Given the description of an element on the screen output the (x, y) to click on. 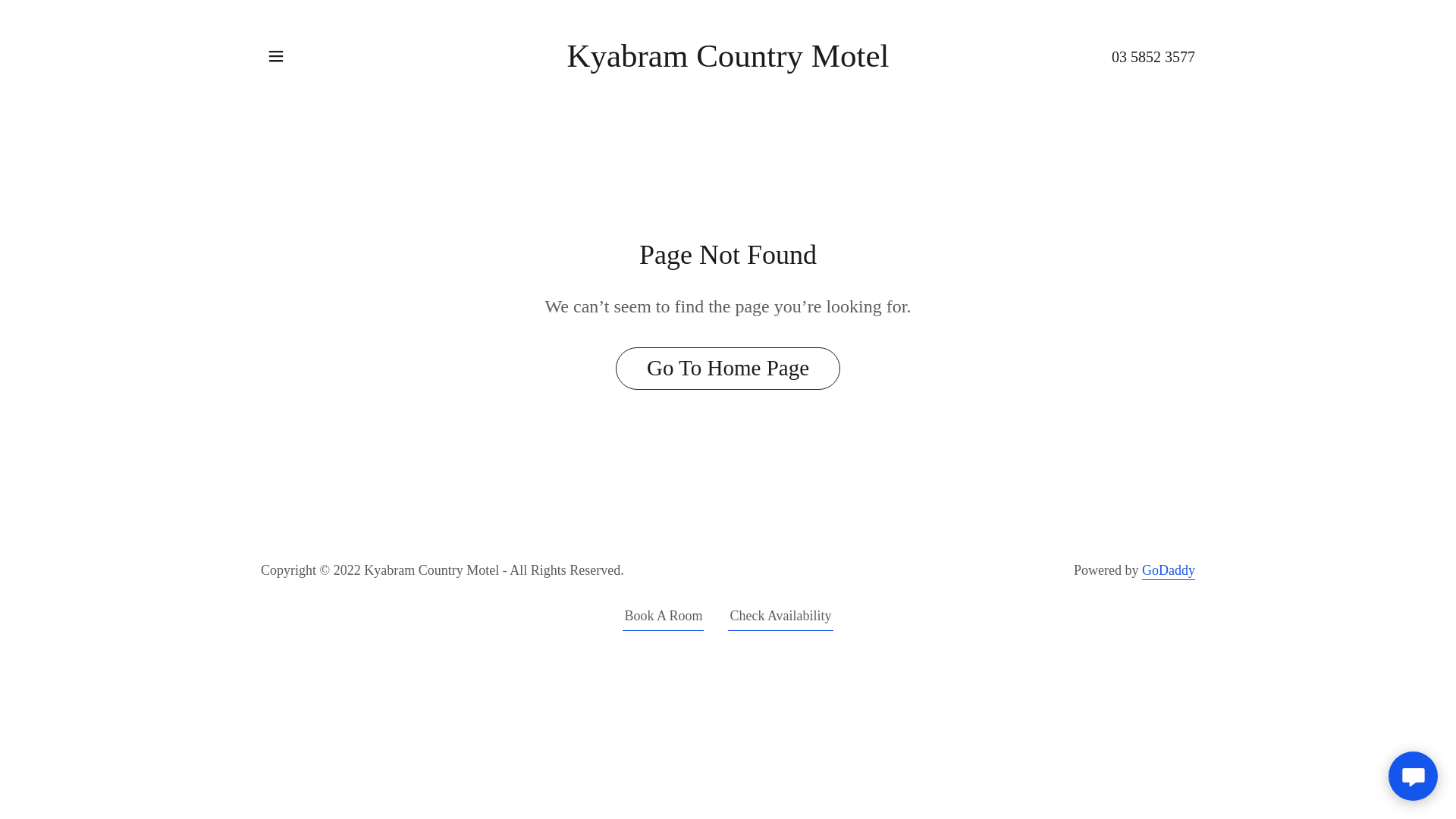
03 5852 3577 Element type: text (1153, 56)
GoDaddy Element type: text (1168, 571)
Book A Room Element type: text (662, 618)
Kyabram Country Motel Element type: text (727, 61)
Check Availability Element type: text (780, 618)
Go To Home Page Element type: text (727, 368)
